Given the description of an element on the screen output the (x, y) to click on. 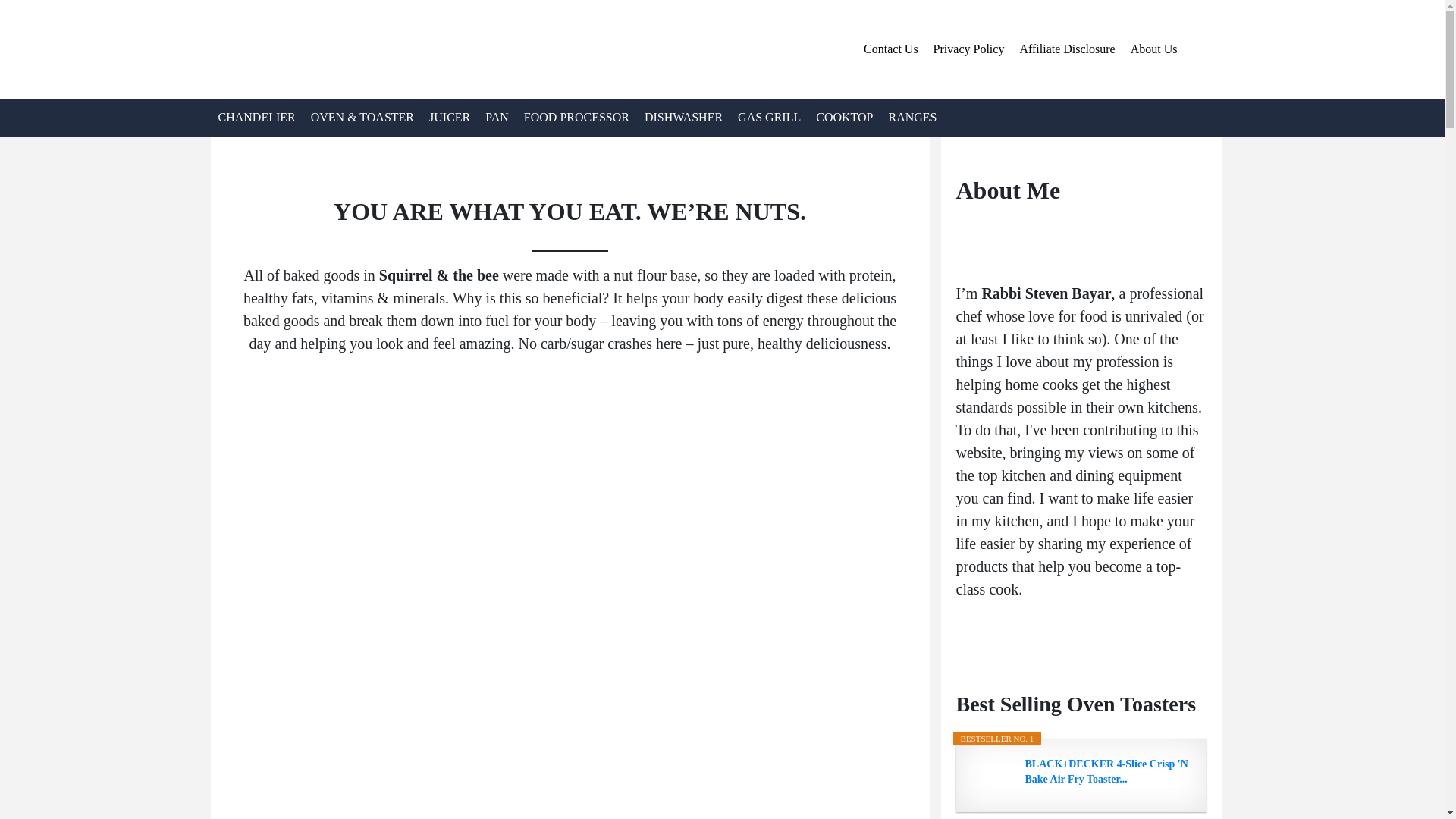
CHANDELIER (256, 117)
Privacy Policy (968, 49)
DISHWASHER (683, 117)
About Us (1153, 49)
Affiliate Disclosure (1066, 49)
FOOD PROCESSOR (576, 117)
RANGES (911, 117)
PAN (496, 117)
COOKTOP (844, 117)
GAS GRILL (769, 117)
JUICER (449, 117)
Contact Us (891, 49)
